Given the description of an element on the screen output the (x, y) to click on. 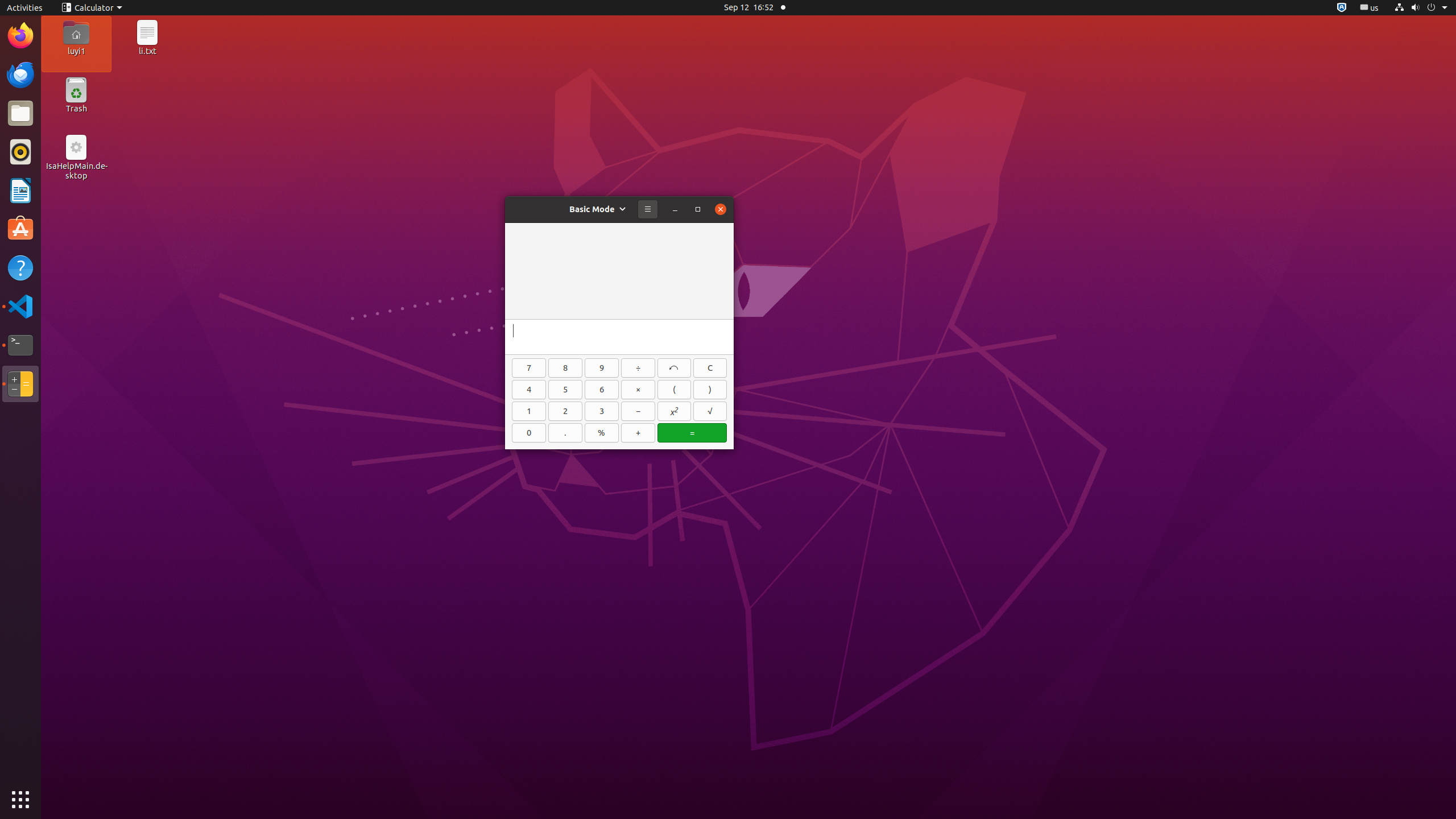
( Element type: push-button (674, 389)
li.txt Element type: label (146, 50)
Trash Element type: label (75, 108)
√ Element type: push-button (709, 410)
